Given the description of an element on the screen output the (x, y) to click on. 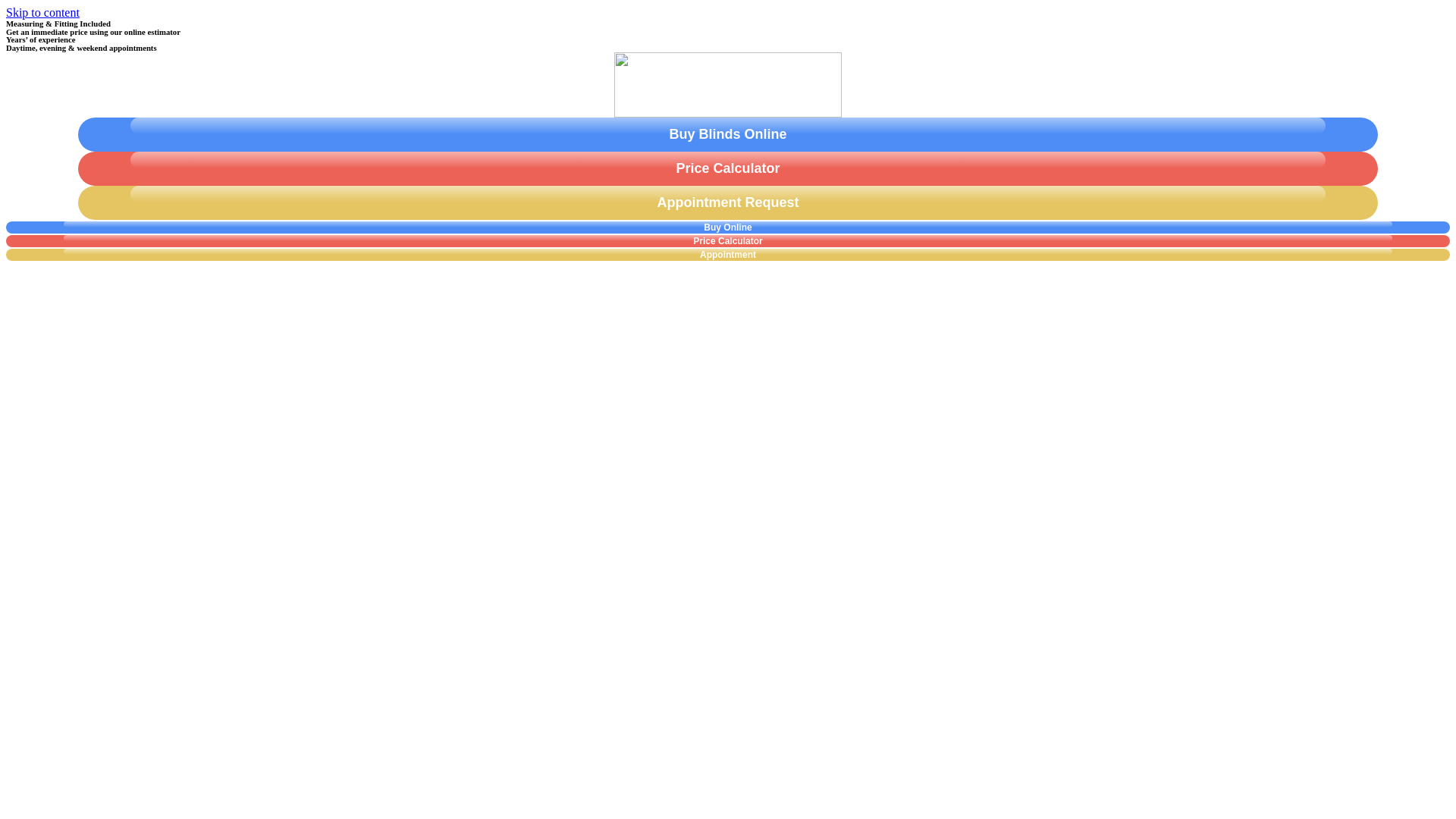
Price Calculator (727, 168)
Appointment Request (727, 202)
Buy Blinds Online (727, 134)
Skip to content (42, 11)
